Given the description of an element on the screen output the (x, y) to click on. 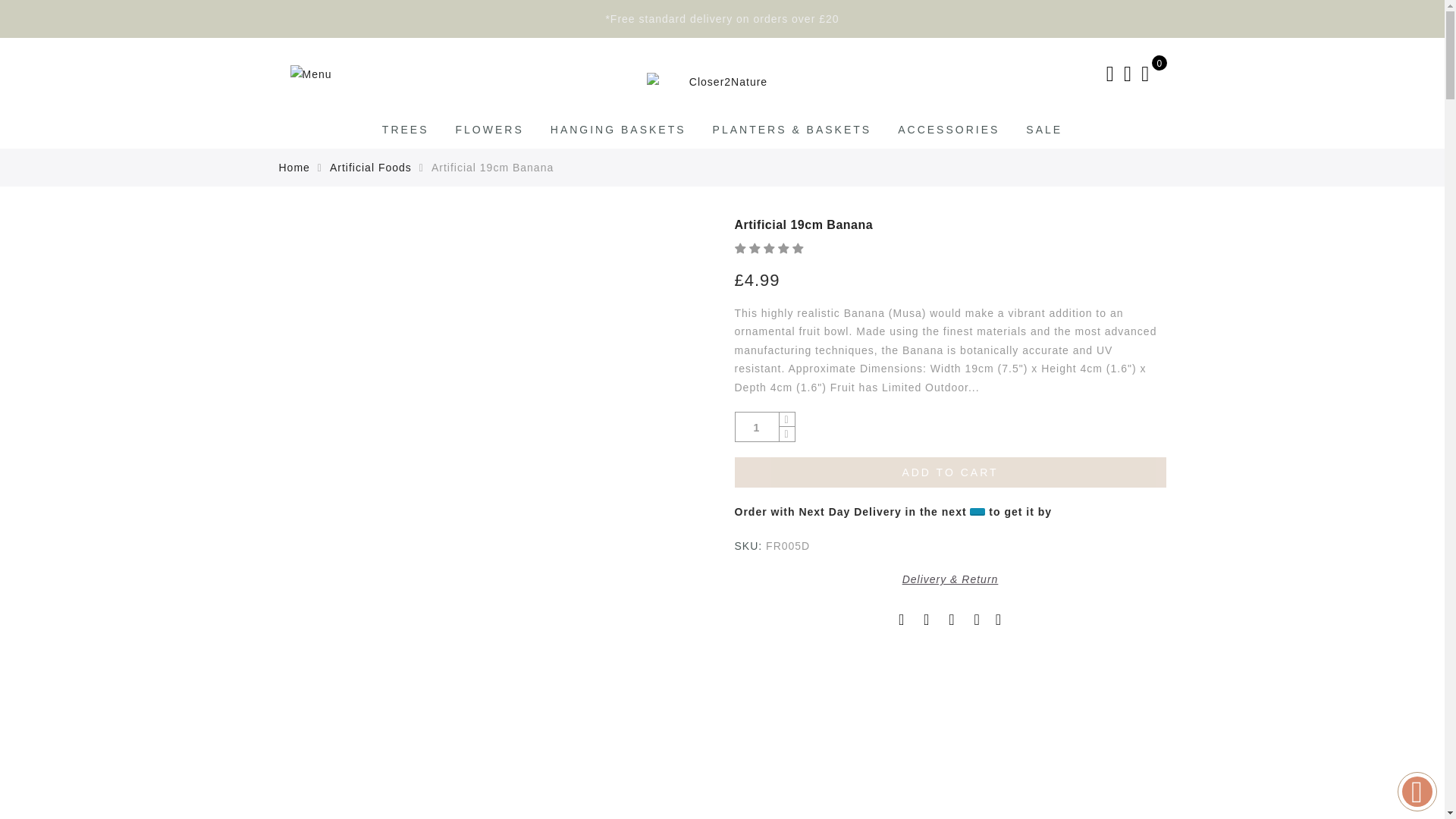
Qty (756, 427)
FLOWERS (489, 129)
TREES (405, 129)
1 (756, 427)
